Given the description of an element on the screen output the (x, y) to click on. 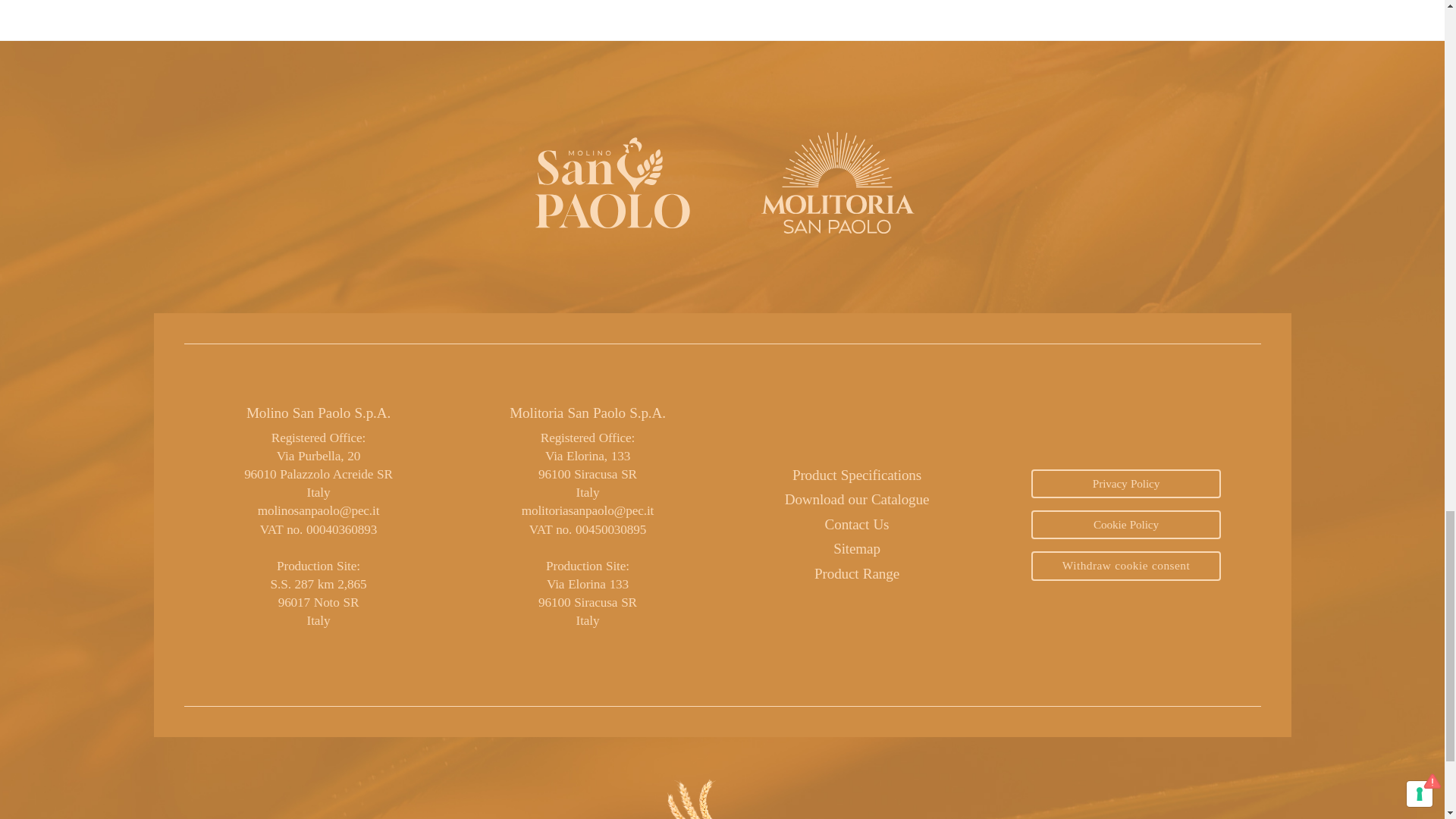
Privacy Policy (1125, 483)
Cookie Policy (1125, 524)
